Given the description of an element on the screen output the (x, y) to click on. 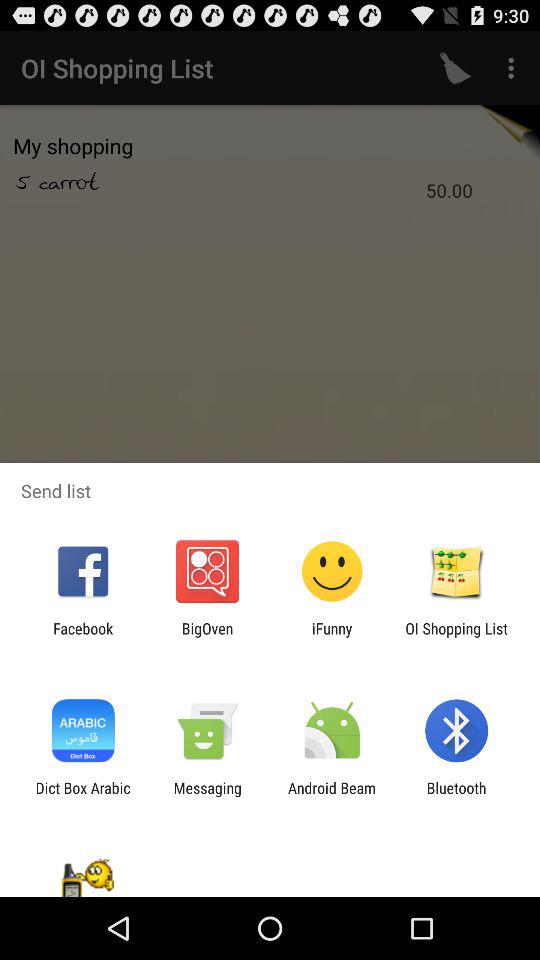
scroll until bigoven icon (207, 637)
